Given the description of an element on the screen output the (x, y) to click on. 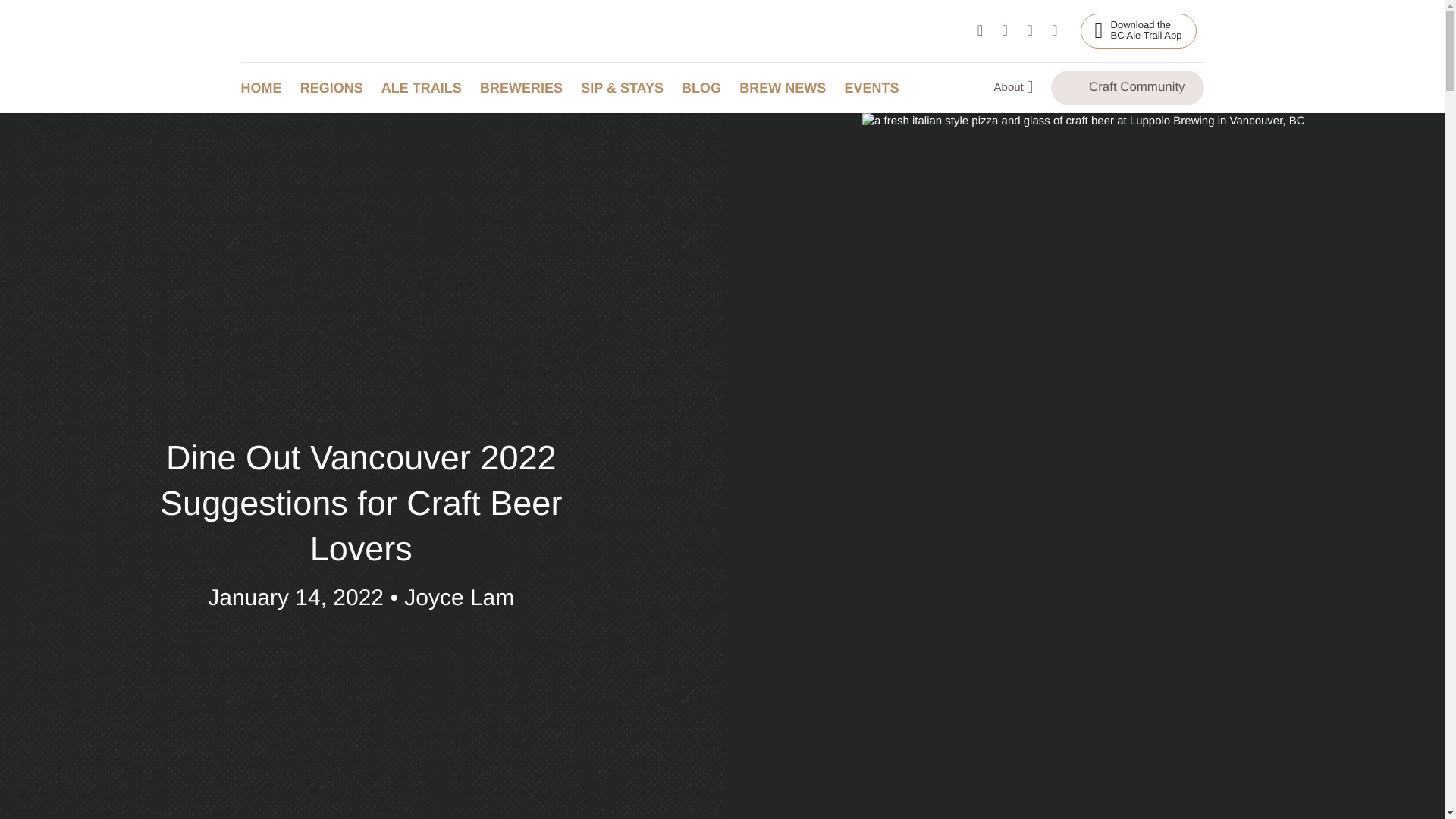
HOME (265, 88)
ALE TRAILS (424, 88)
BREWERIES (525, 88)
BLOG (1138, 30)
REGIONS (705, 88)
About (335, 88)
BREW NEWS (1016, 87)
EVENTS (785, 88)
Craft Community (874, 88)
